Given the description of an element on the screen output the (x, y) to click on. 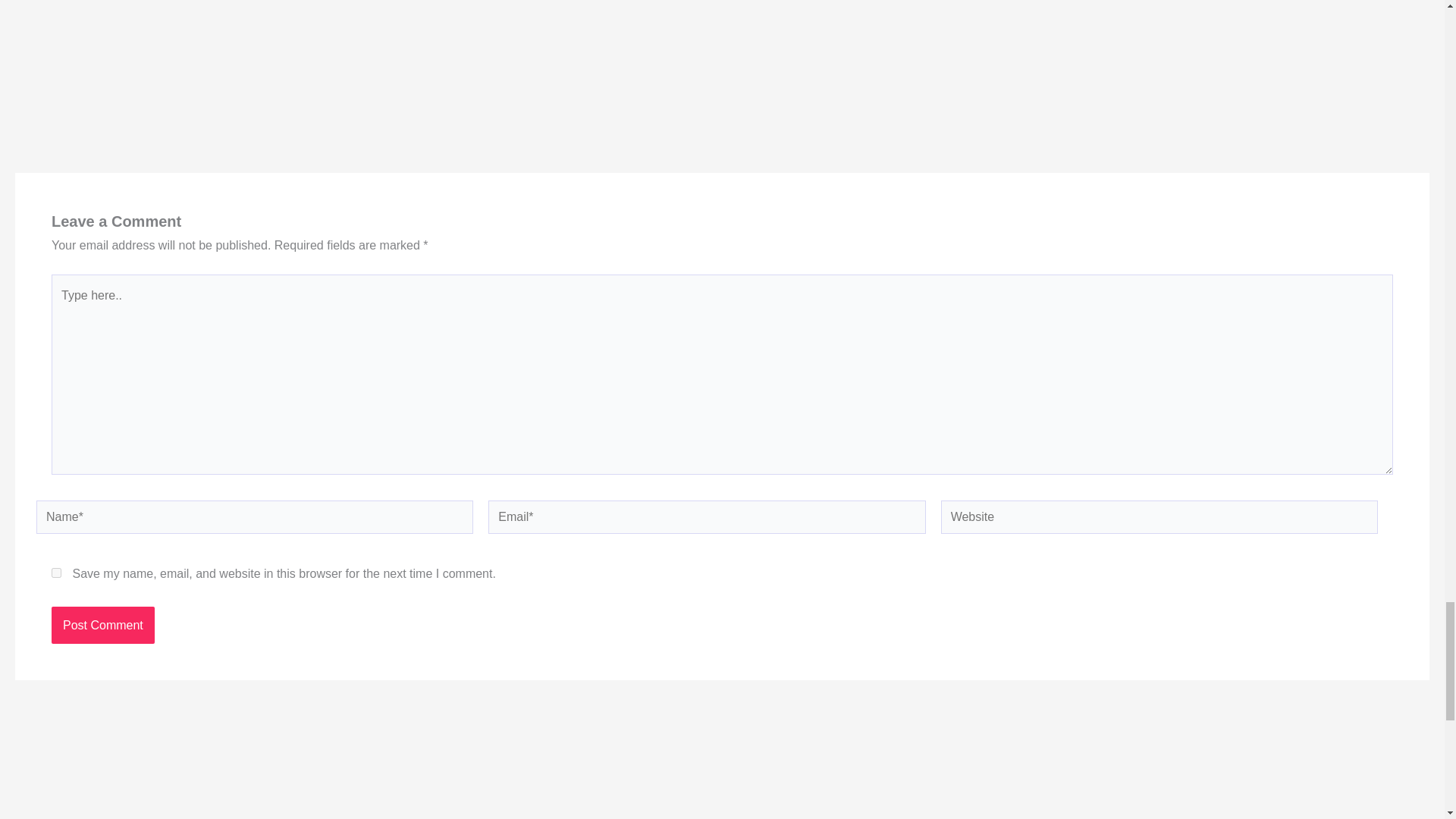
Post Comment (102, 625)
Post Comment (102, 625)
yes (55, 573)
